Given the description of an element on the screen output the (x, y) to click on. 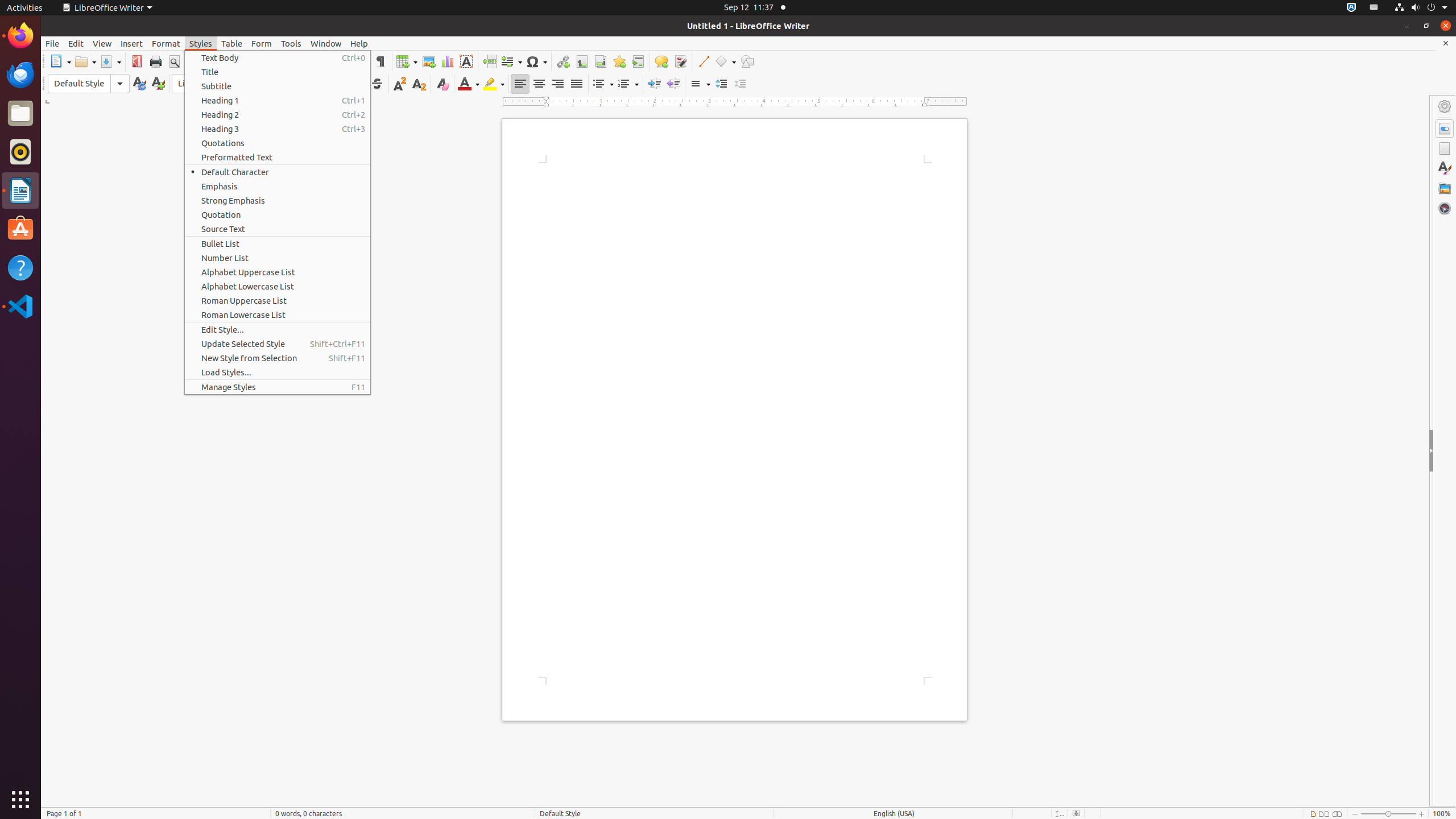
Table Element type: menu (231, 43)
Form Element type: menu (261, 43)
Quotation Element type: radio-menu-item (277, 214)
Footnote Element type: push-button (581, 61)
org.kde.StatusNotifierItem-14077-1 Element type: menu (1373, 7)
